Given the description of an element on the screen output the (x, y) to click on. 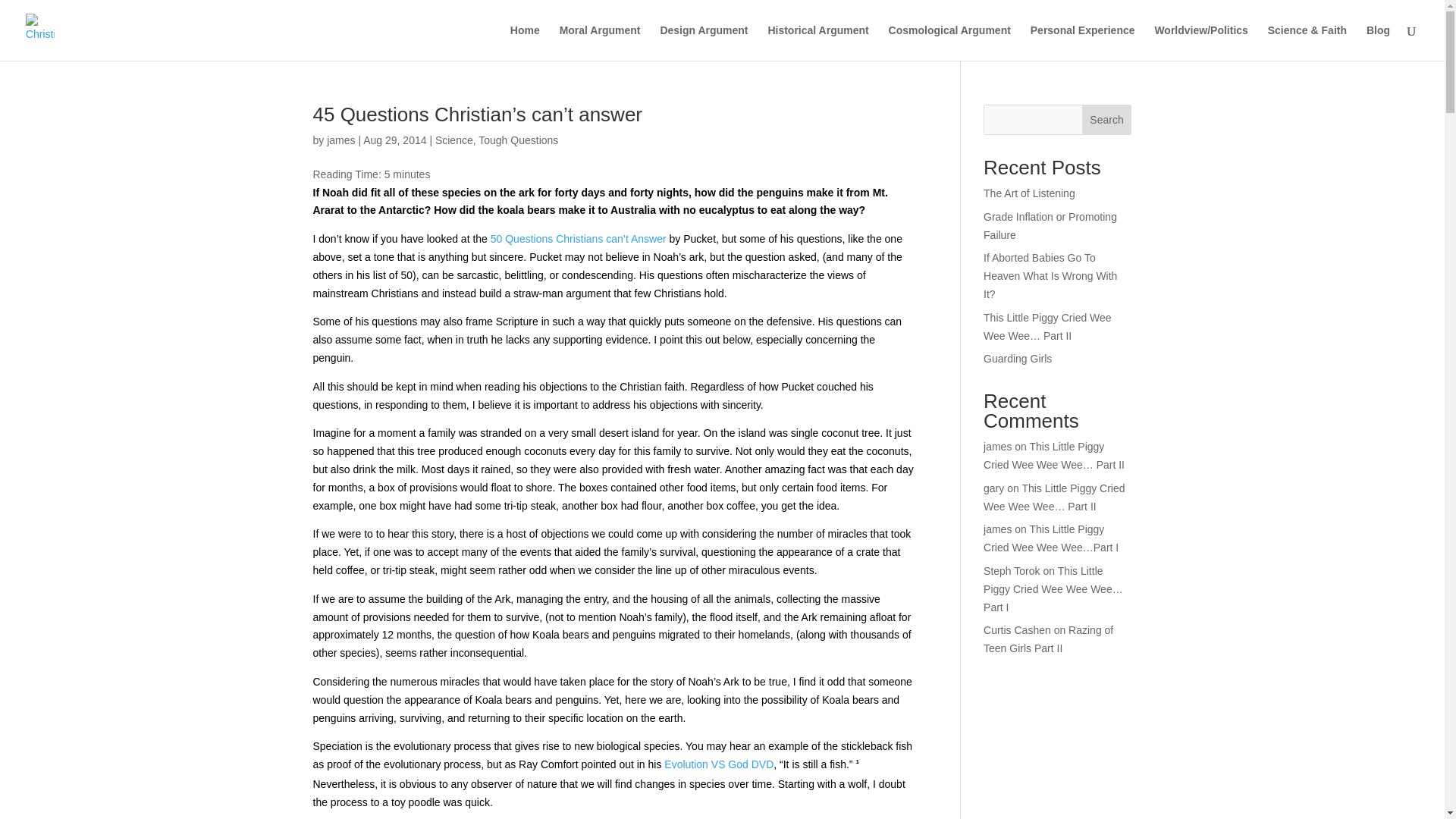
james (997, 446)
The Art of Listening (1029, 193)
Tough Questions (518, 140)
Design Argument (703, 42)
james (997, 529)
Grade Inflation or Promoting Failure (1050, 225)
Posts by james (340, 140)
If Aborted Babies Go To Heaven What Is Wrong With It? (1050, 275)
Science (454, 140)
Evolution VS God DVD (718, 764)
